Given the description of an element on the screen output the (x, y) to click on. 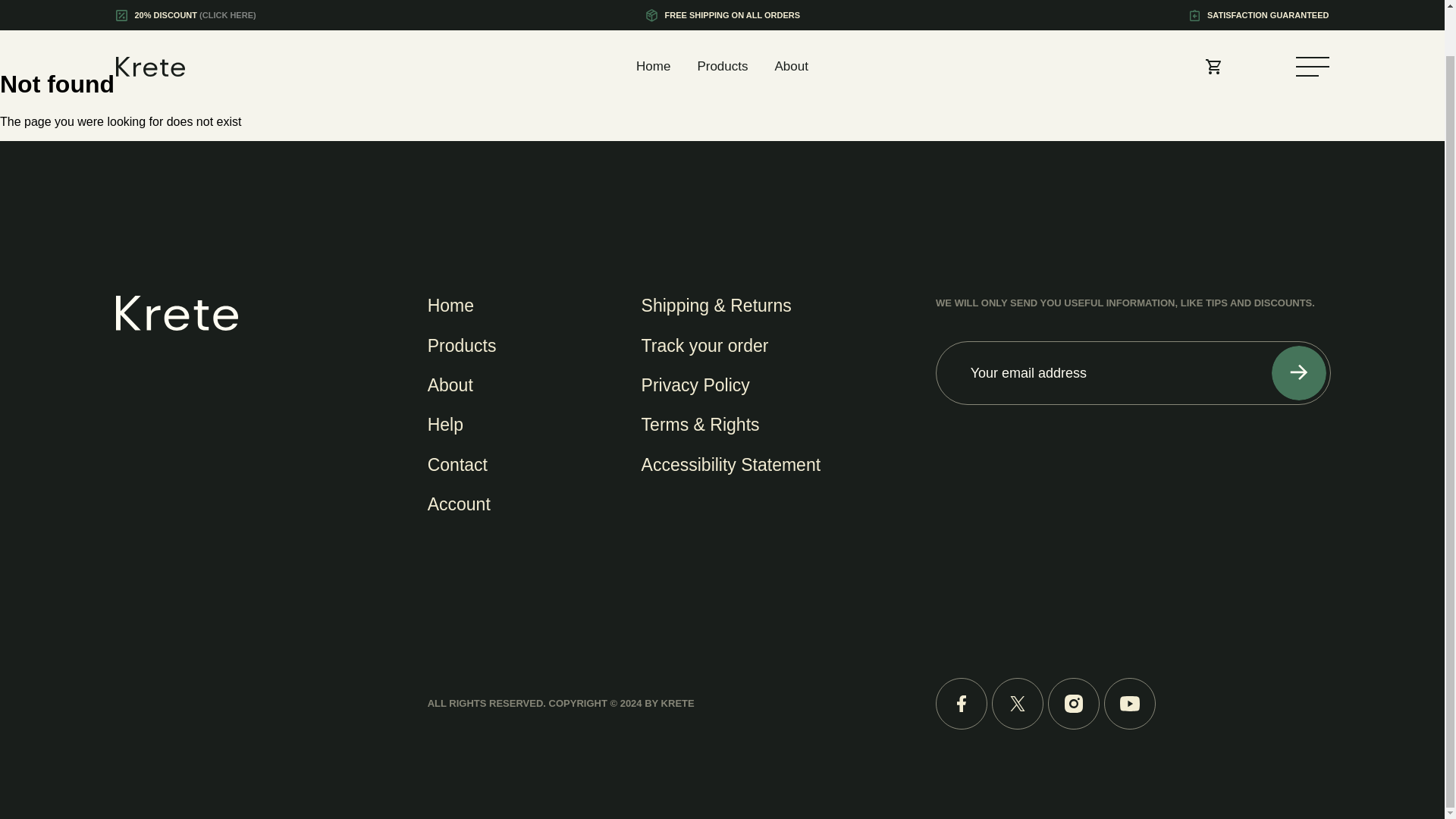
About (791, 18)
Products (722, 18)
Help (445, 424)
Accessibility Statement (731, 465)
Privacy Policy (695, 384)
Home (451, 305)
About (450, 384)
Products (462, 344)
Contact (457, 465)
Track your order (705, 344)
Account (459, 504)
Home (652, 18)
